Given the description of an element on the screen output the (x, y) to click on. 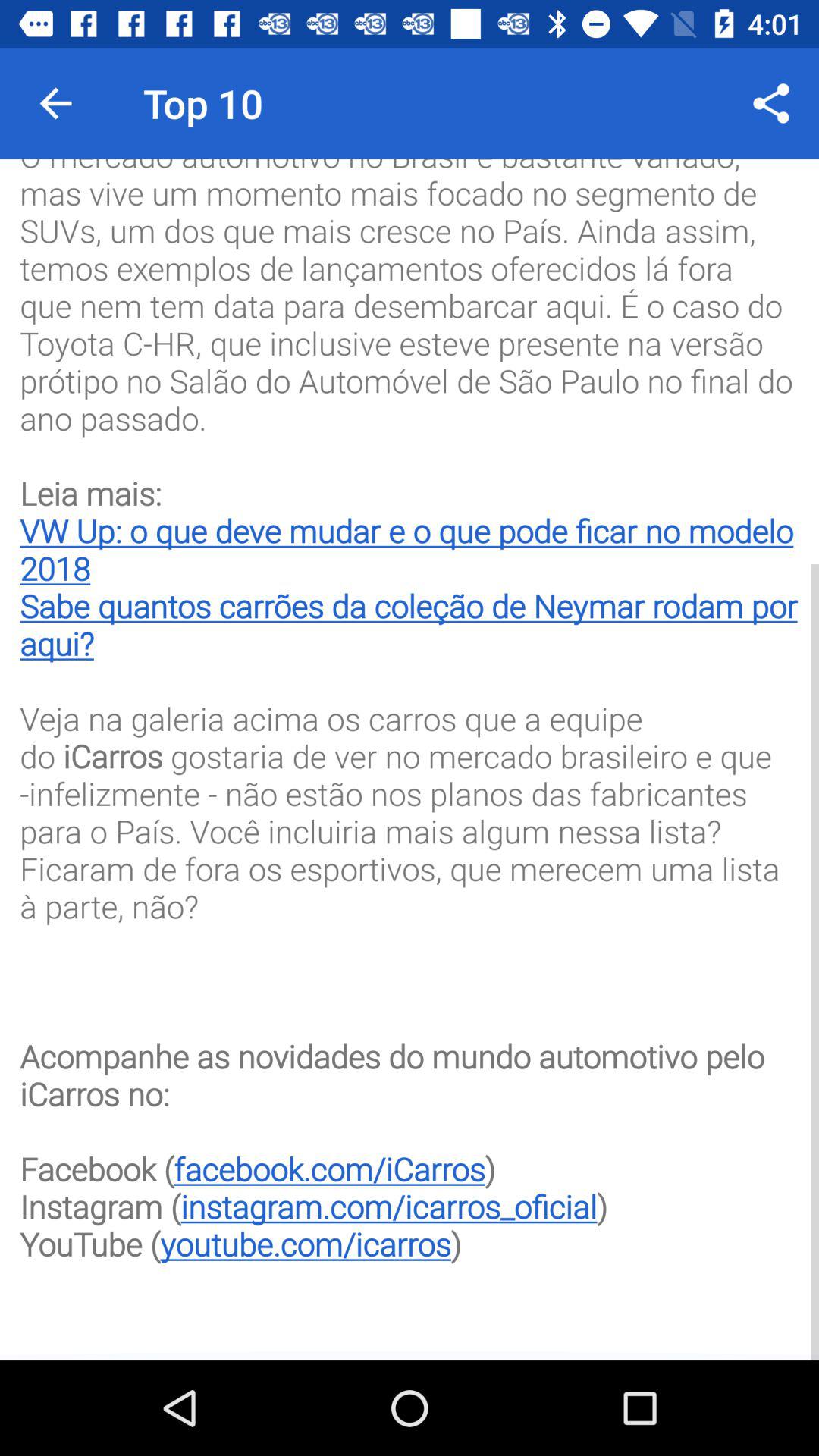
turn on o mercado automotivo at the center (409, 749)
